Given the description of an element on the screen output the (x, y) to click on. 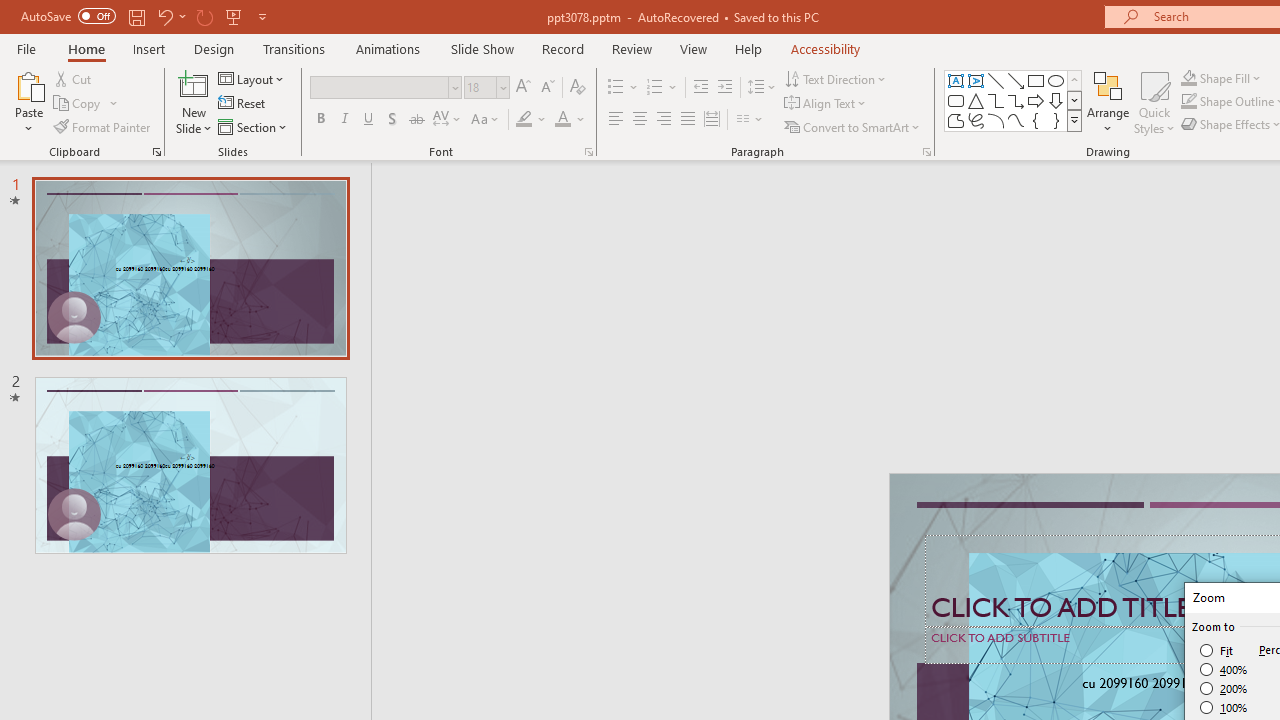
Decrease Indent (700, 87)
Align Right (663, 119)
Change Case (486, 119)
Increase Font Size (522, 87)
Shape Fill Dark Green, Accent 2 (1188, 78)
Center (639, 119)
Underline (369, 119)
